Given the description of an element on the screen output the (x, y) to click on. 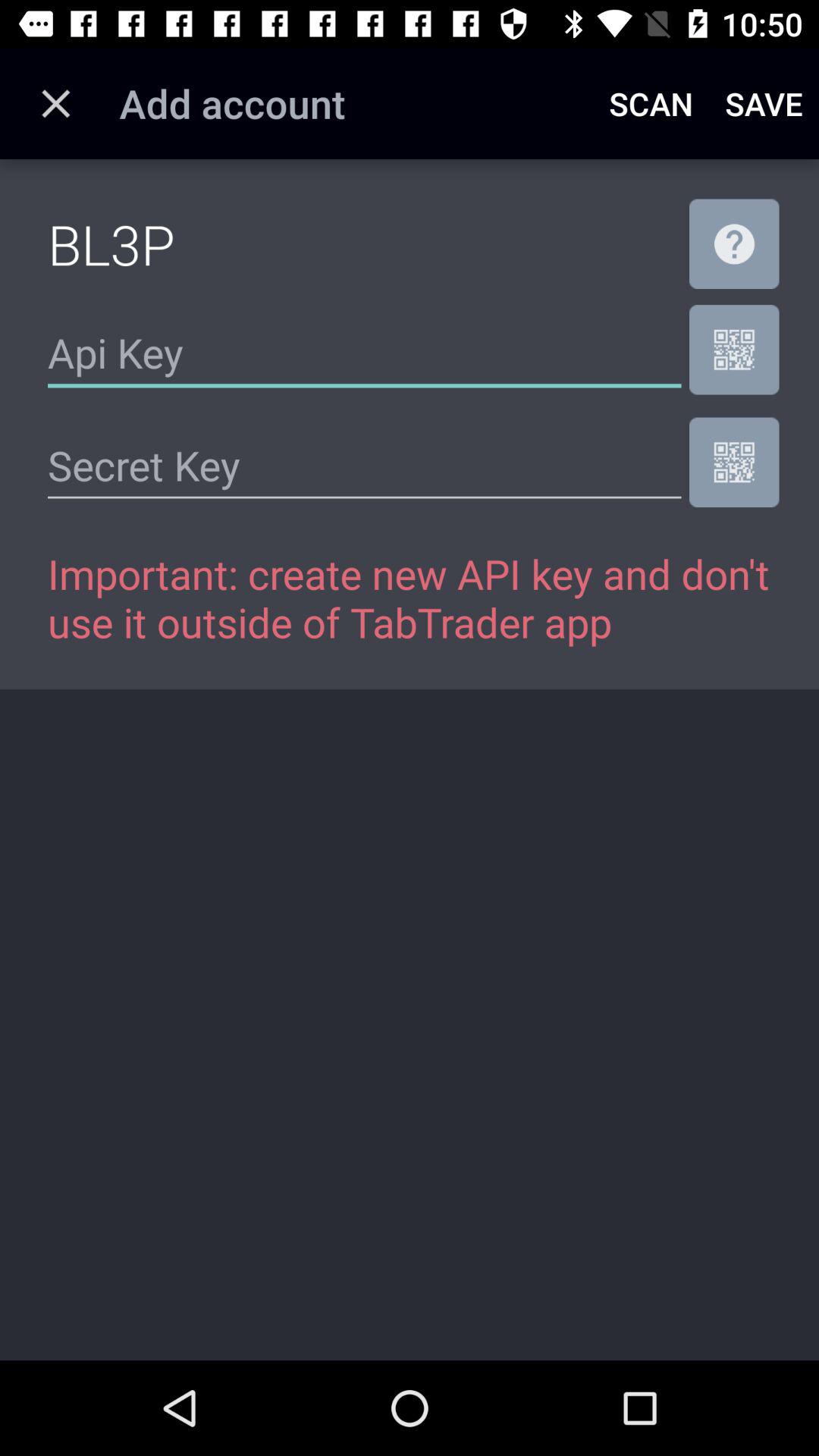
select the save (764, 103)
